Given the description of an element on the screen output the (x, y) to click on. 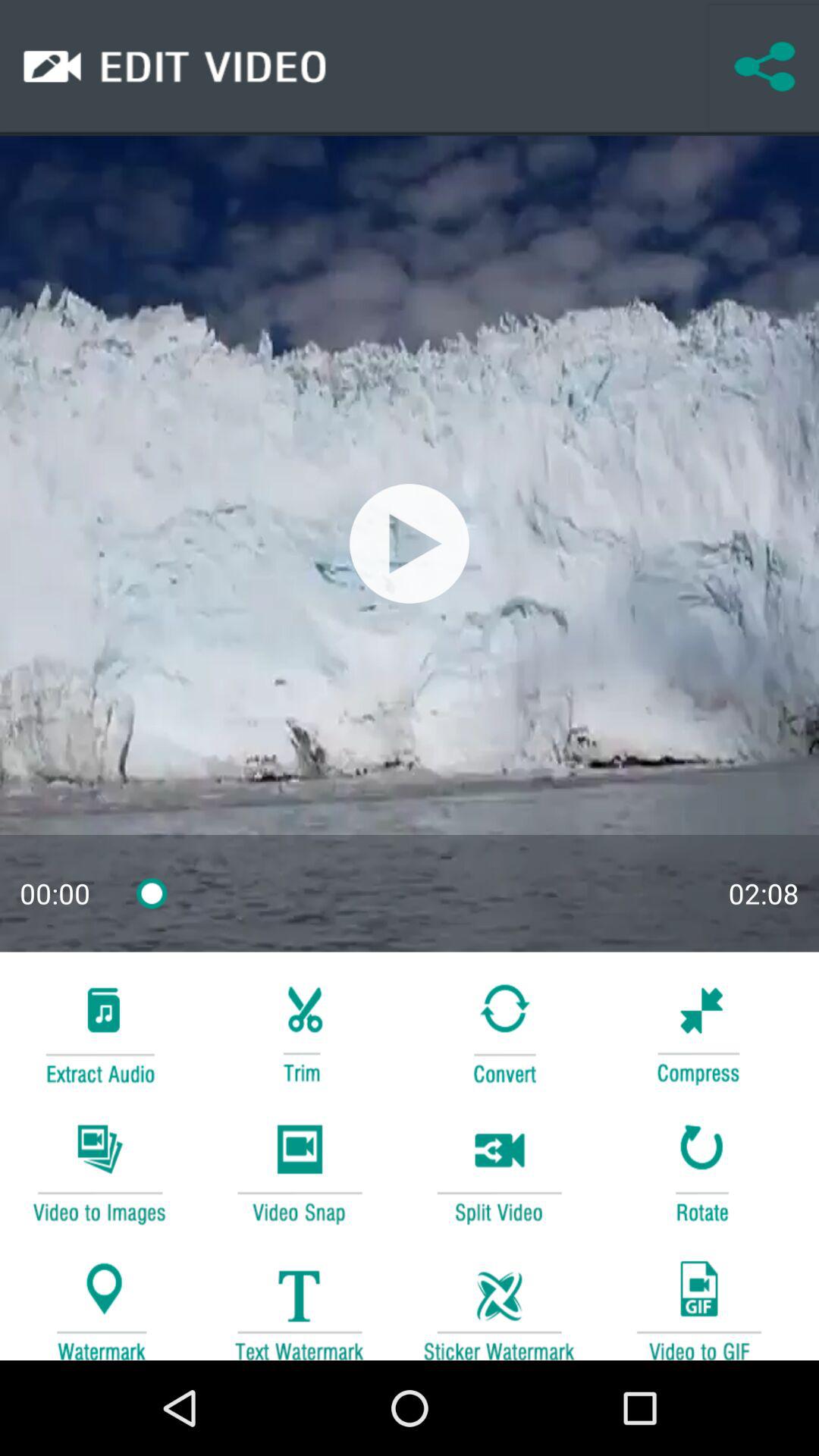
video button (299, 1171)
